Given the description of an element on the screen output the (x, y) to click on. 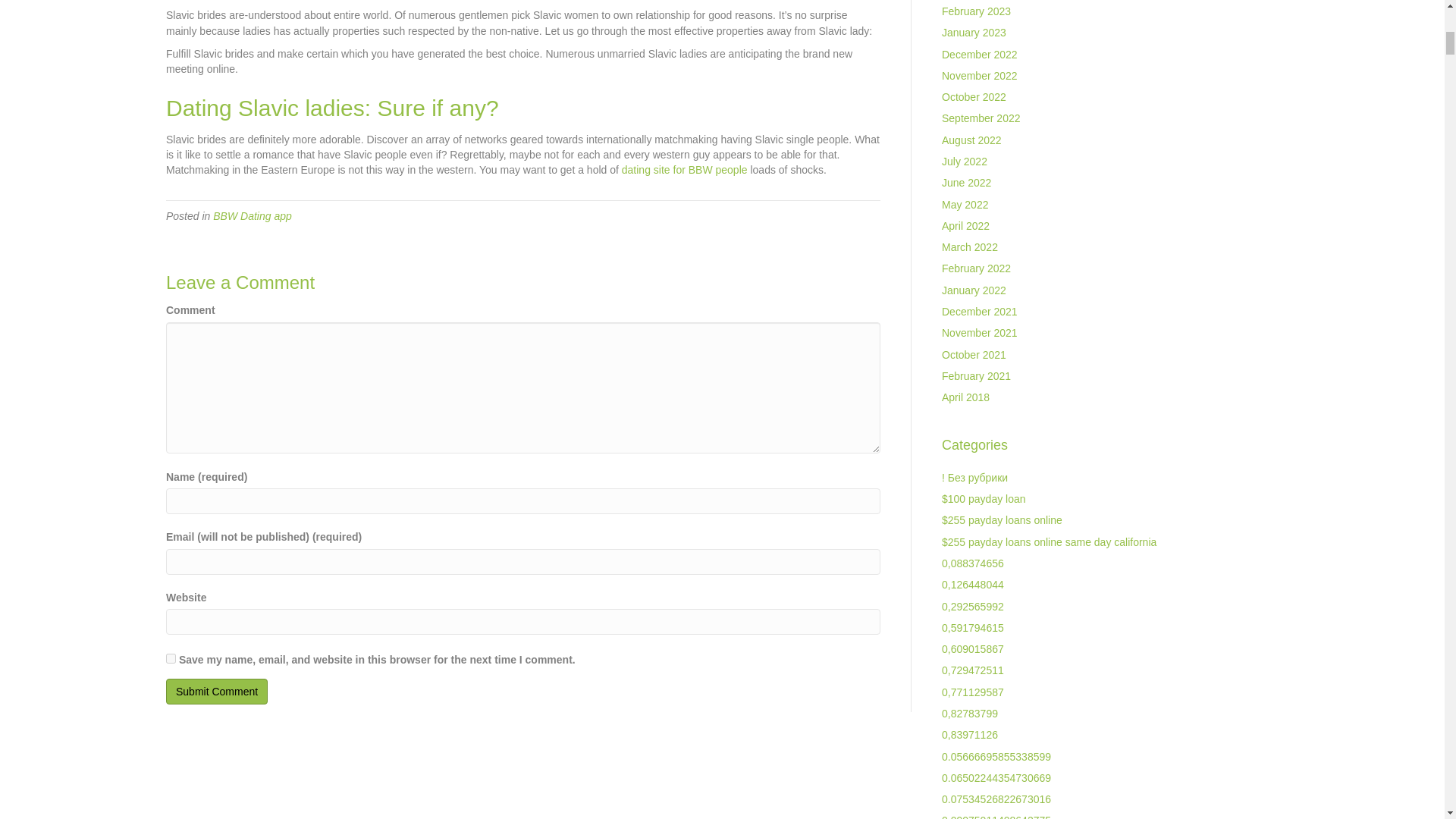
dating site for BBW people (684, 169)
BBW Dating app (252, 215)
Submit Comment (216, 691)
Submit Comment (216, 691)
yes (170, 658)
